Given the description of an element on the screen output the (x, y) to click on. 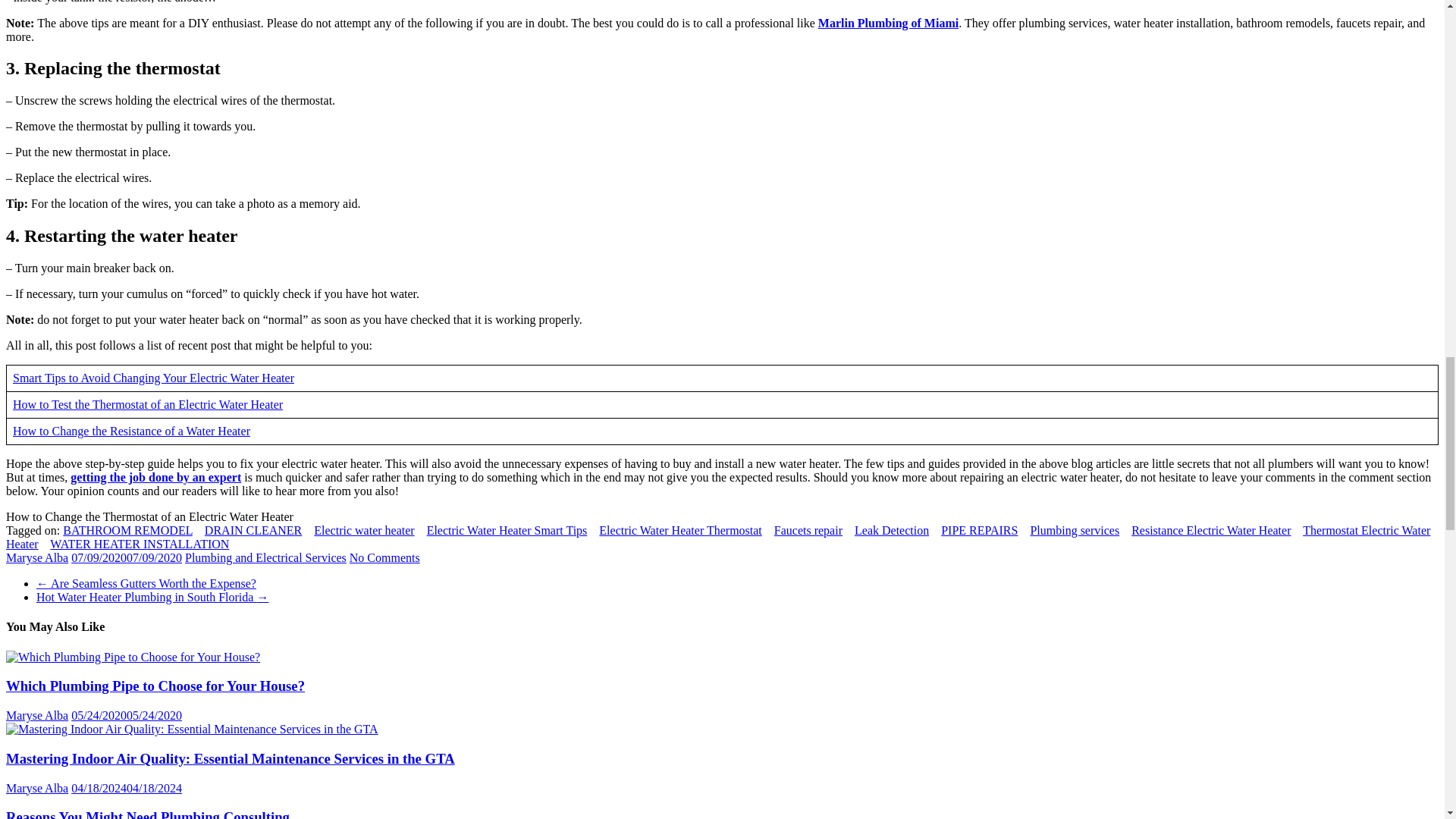
Resistance Electric Water Heater (1210, 530)
Reasons You Might Need Plumbing Consulting (147, 814)
WATER HEATER INSTALLATION (138, 543)
Which Plumbing Pipe to Choose for Your House? (154, 685)
Electric water heater (363, 530)
17:40 (126, 715)
Which Plumbing Pipe to Choose for Your House? (132, 656)
14:02 (126, 788)
No Comments (384, 557)
